Given the description of an element on the screen output the (x, y) to click on. 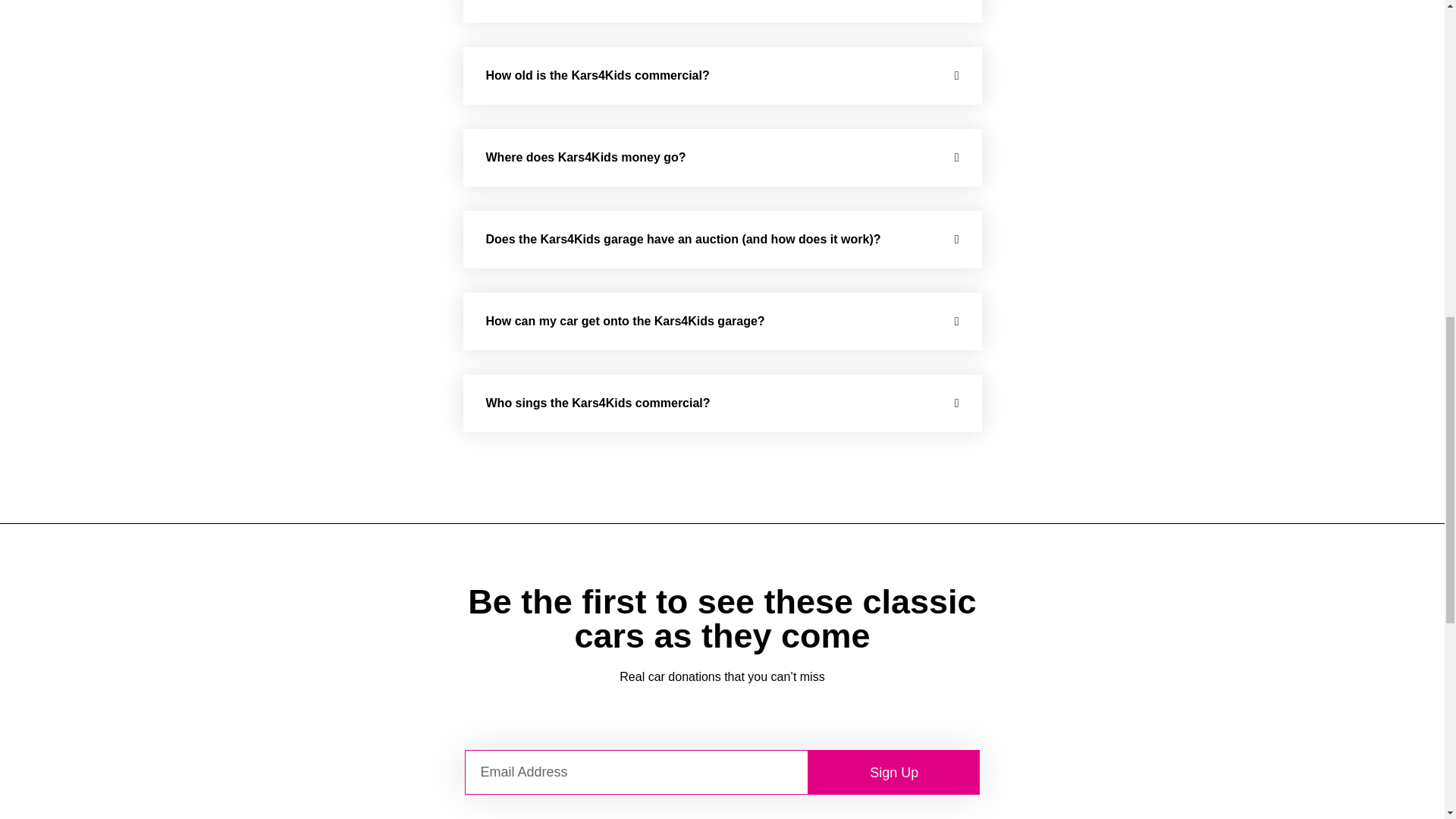
How can my car get onto the Kars4Kids garage? (624, 320)
How old is the Kars4Kids commercial? (596, 74)
Where does Kars4Kids money go? (584, 156)
Who sings the Kars4Kids commercial? (597, 402)
